Given the description of an element on the screen output the (x, y) to click on. 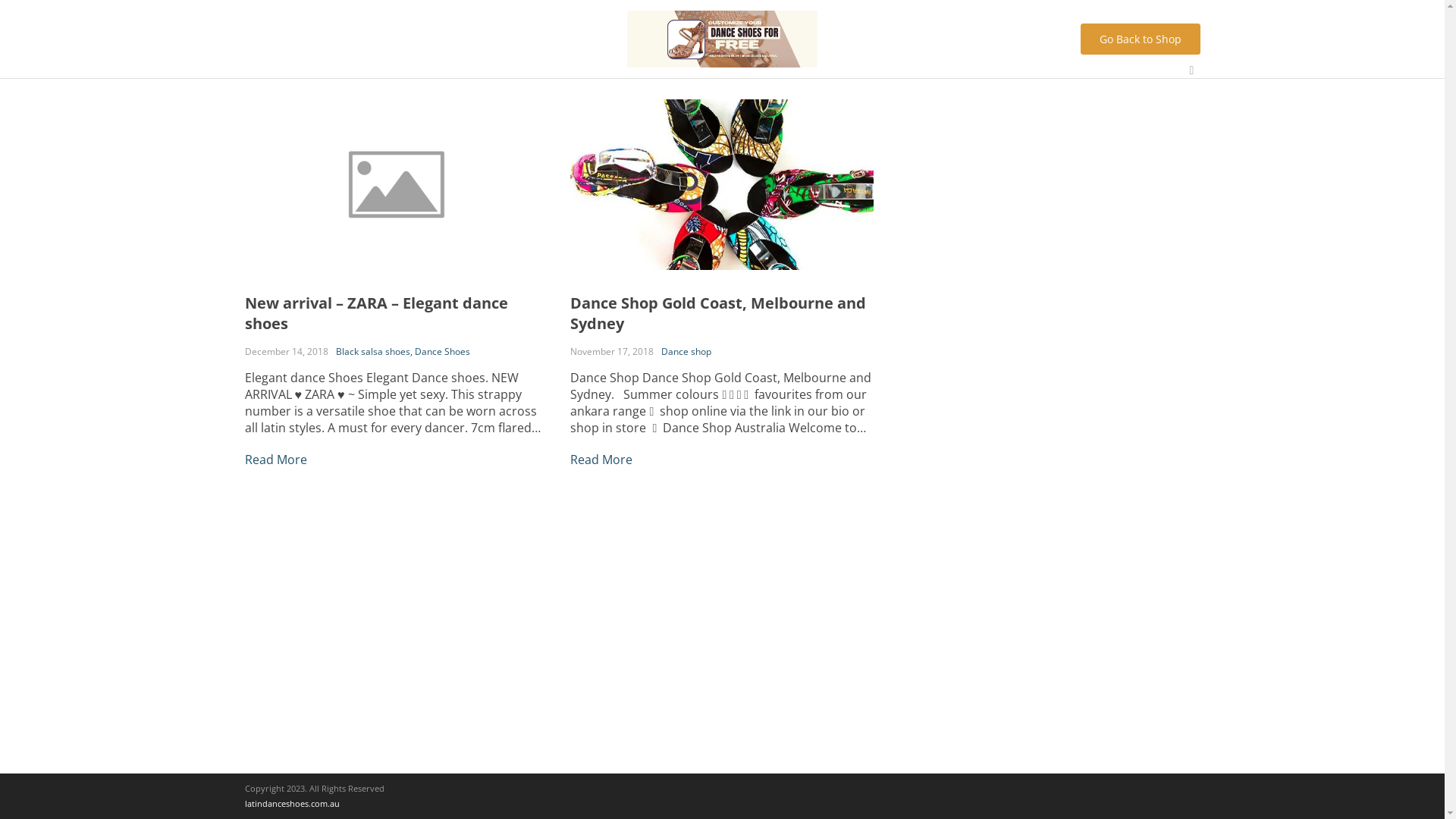
Go Back to Shop Element type: text (1139, 38)
Read More Element type: text (601, 458)
Dance Shop Gold Coast, Melbourne and Sydney 4 Element type: hover (721, 184)
Dance Shoes Element type: text (441, 350)
Black salsa shoes Element type: text (372, 350)
Dance shop Element type: text (686, 350)
Dance Shop Gold Coast, Melbourne and Sydney Element type: text (718, 312)
Read More Element type: text (275, 458)
